Given the description of an element on the screen output the (x, y) to click on. 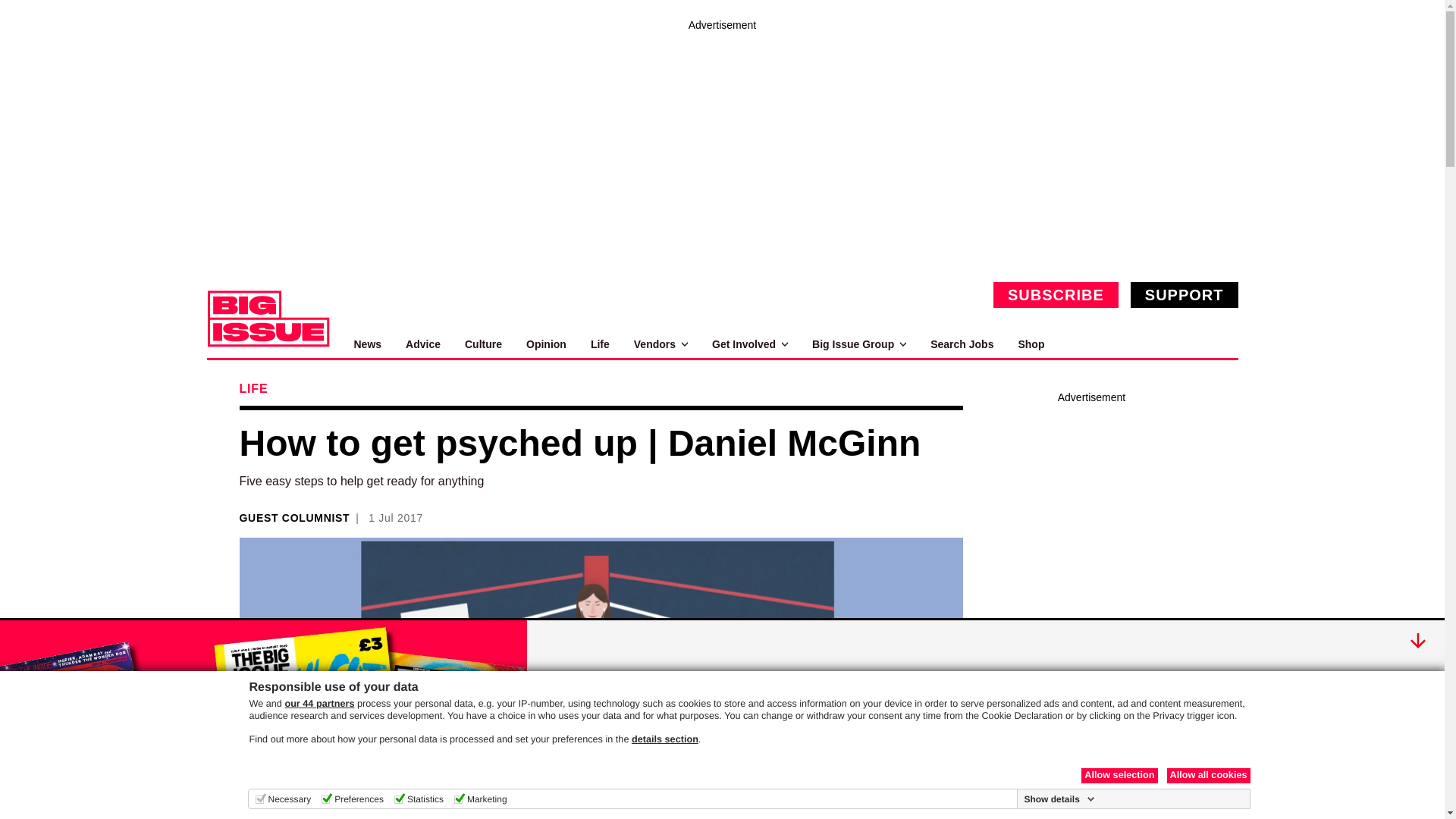
Allow all cookies (1207, 775)
our 44 partners (318, 703)
Allow selection (1119, 775)
details section (664, 738)
Show details (1058, 799)
